Given the description of an element on the screen output the (x, y) to click on. 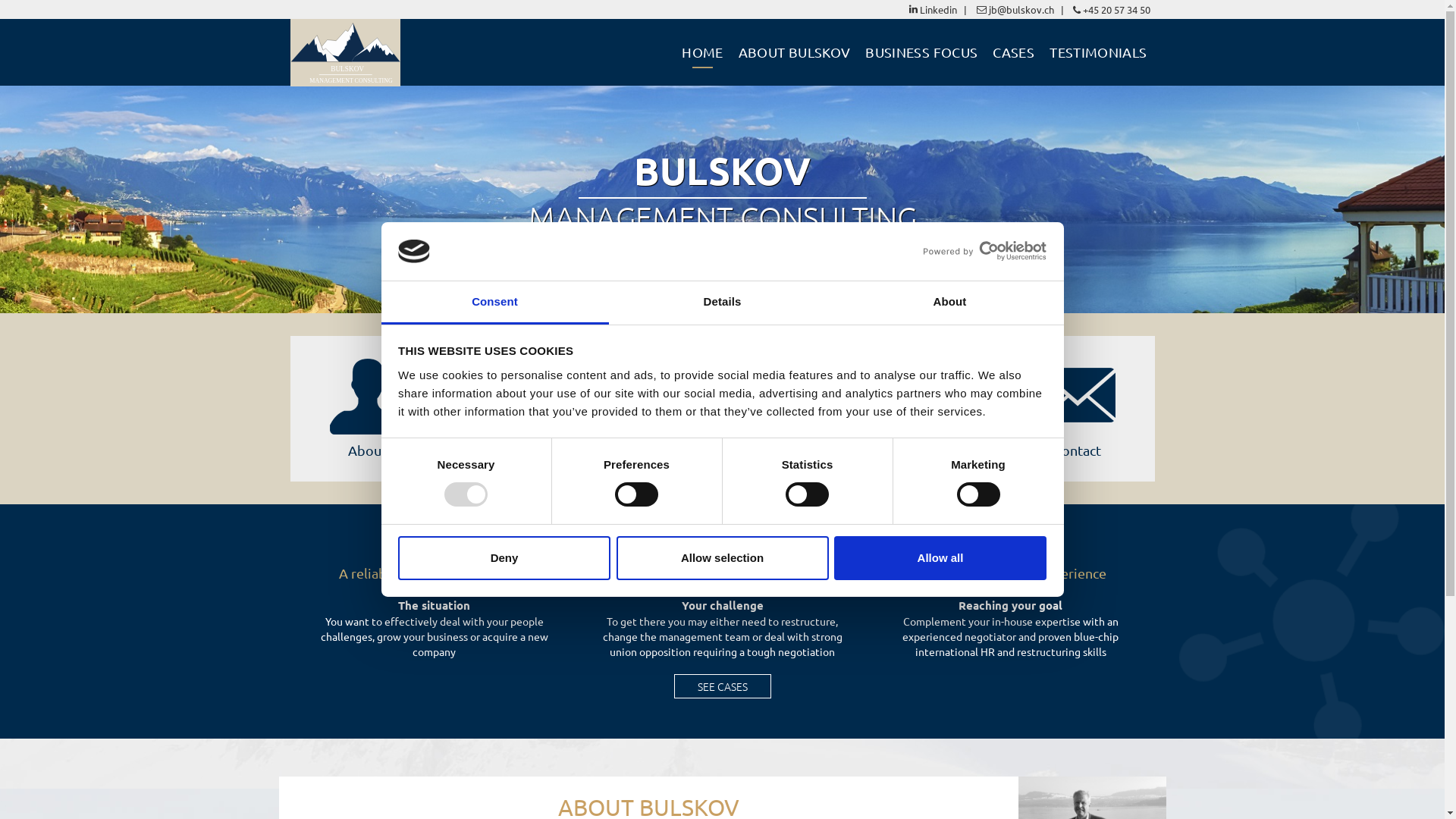
ABOUT BULSKOV Element type: text (794, 52)
BUSINESS FOCUS Element type: text (921, 52)
About Element type: text (949, 302)
Details Element type: text (721, 302)
 jb@bulskov.ch Element type: text (1015, 9)
Business Focus Element type: text (544, 450)
Allow all Element type: text (940, 558)
About Element type: text (367, 450)
Cases Element type: text (722, 450)
Testimonials Element type: text (899, 450)
Allow selection Element type: text (721, 558)
SEE CASES Element type: text (721, 686)
Contact Element type: text (1077, 450)
Consent Element type: text (494, 302)
CASES Element type: text (1013, 52)
TESTIMONIALS Element type: text (1097, 52)
HOME Element type: text (702, 52)
 Linkedin Element type: text (932, 9)
Deny Element type: text (504, 558)
